Given the description of an element on the screen output the (x, y) to click on. 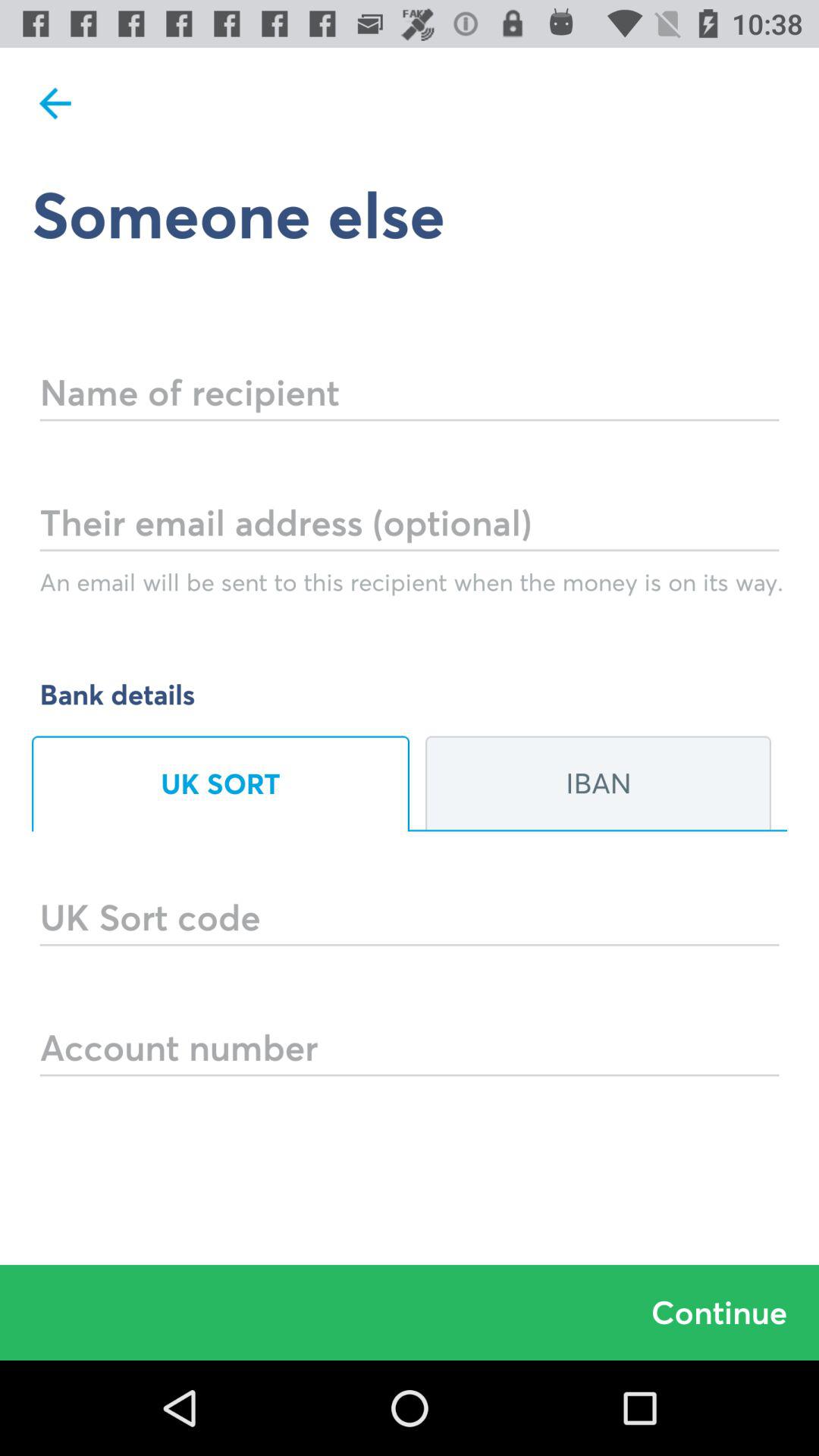
click iban item (598, 783)
